Given the description of an element on the screen output the (x, y) to click on. 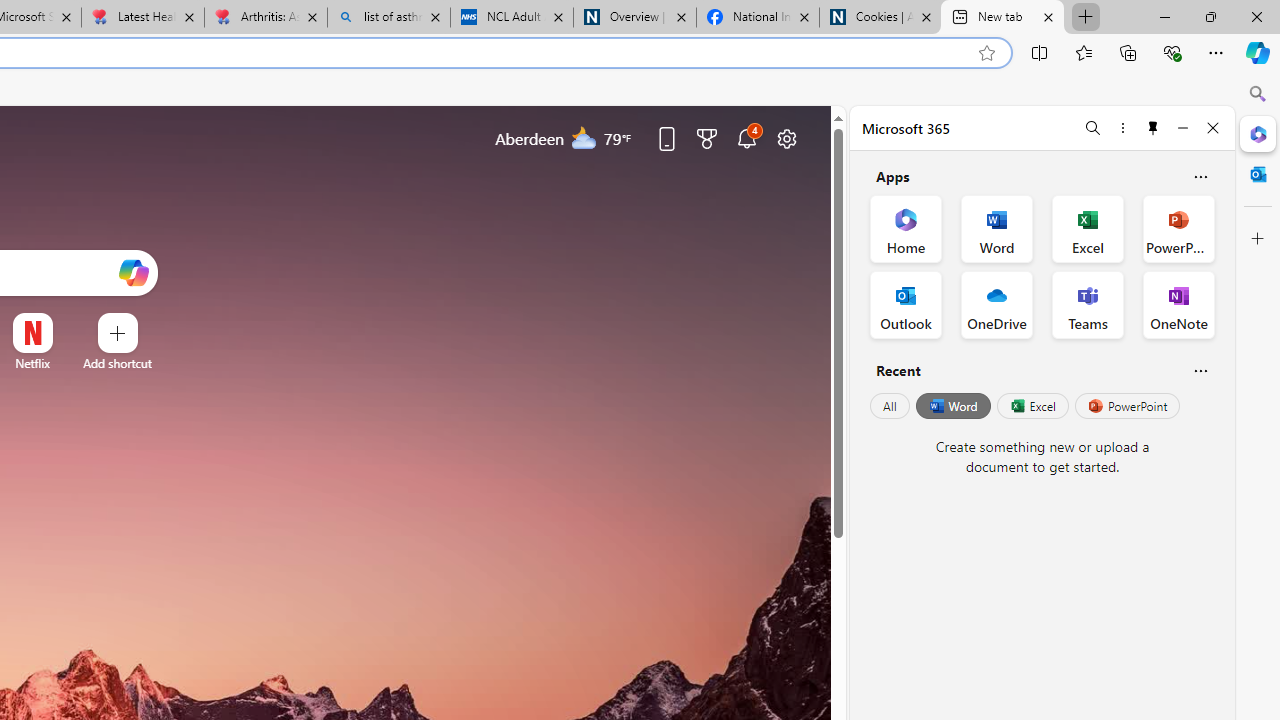
Is this helpful? (1200, 370)
OneNote Office App (1178, 304)
